Given the description of an element on the screen output the (x, y) to click on. 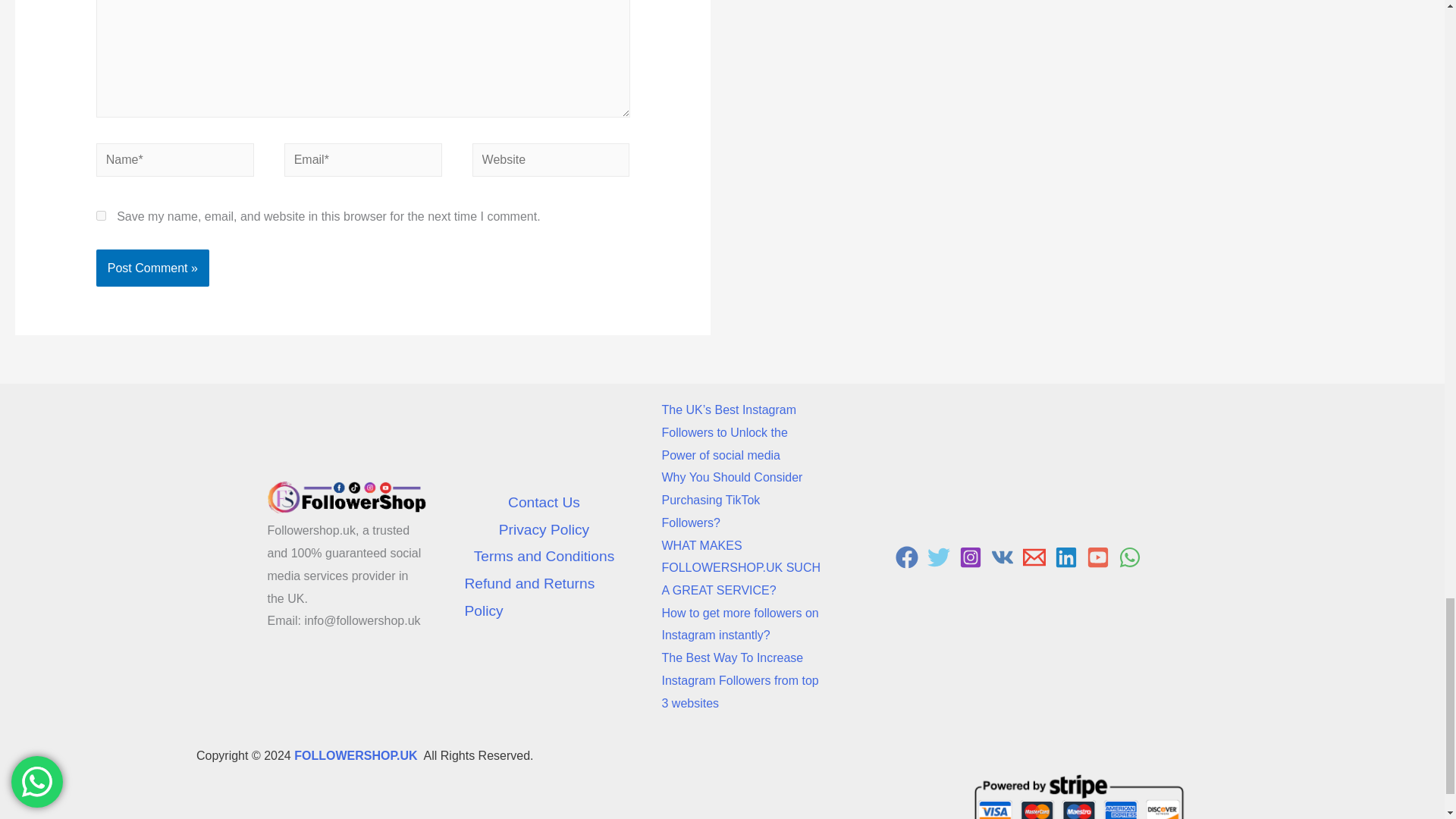
yes (101, 215)
